Given the description of an element on the screen output the (x, y) to click on. 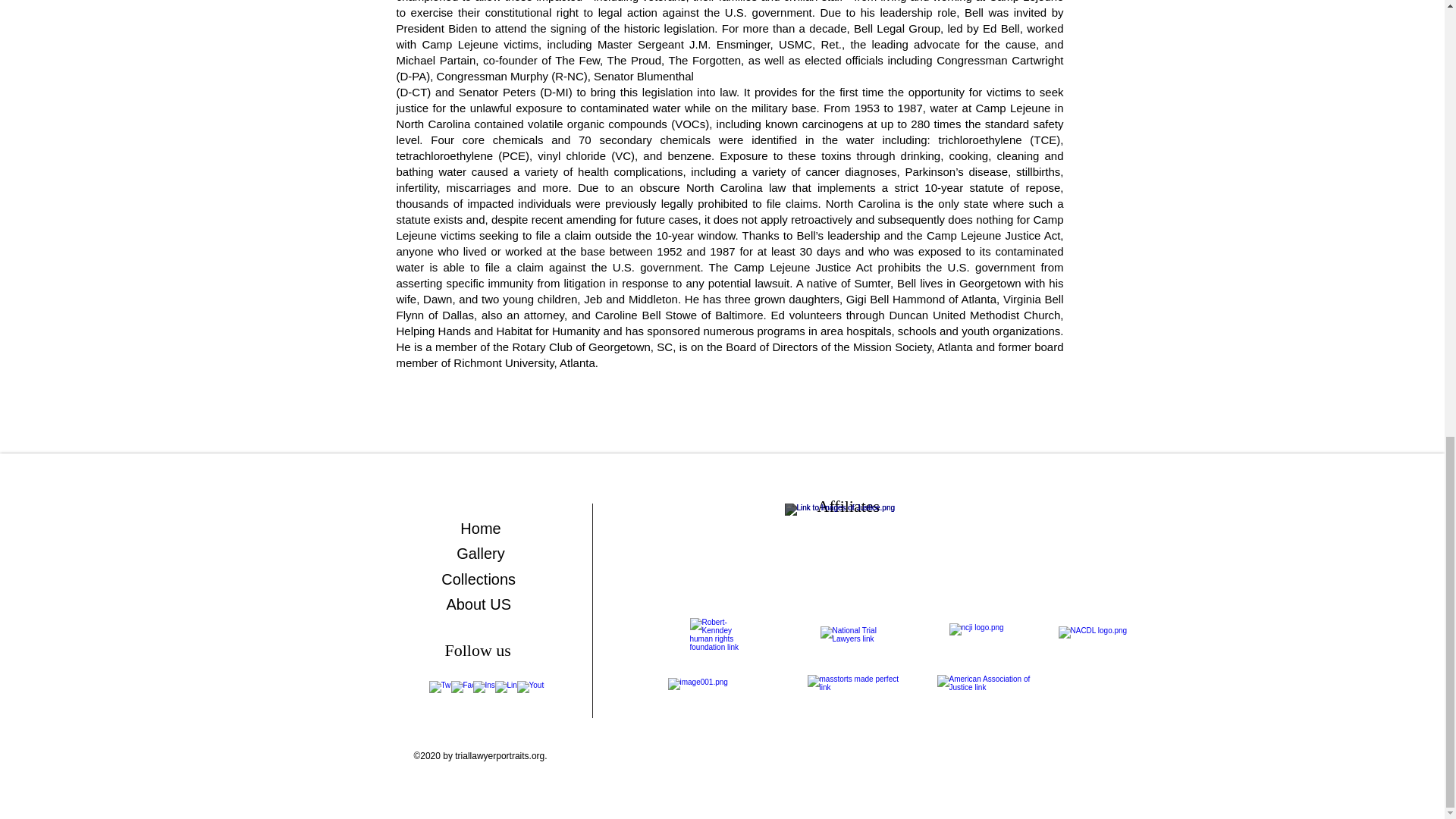
About US  (480, 604)
Gallery Collections  (480, 566)
Home (480, 528)
